Given the description of an element on the screen output the (x, y) to click on. 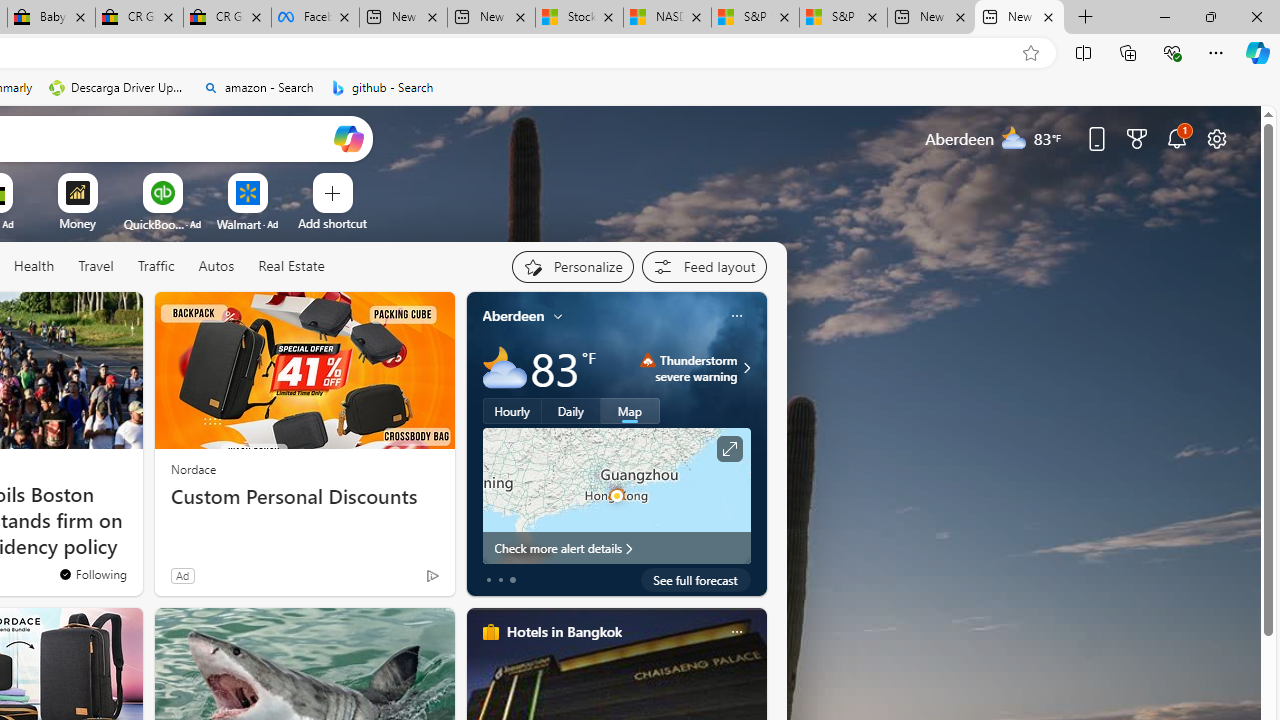
S&P 500, Nasdaq end lower, weighed by Nvidia dip | Watch (843, 17)
hotels-header-icon (490, 632)
Daily (571, 411)
Hotels in Bangkok (563, 631)
Facebook (315, 17)
Add a site (332, 223)
Mostly cloudy (504, 368)
Thunderstorm - Severe Thunderstorm severe warning (689, 367)
Larger map  (616, 495)
Thunderstorm - Severe (648, 359)
Health (33, 267)
Check more alert details (616, 547)
